Given the description of an element on the screen output the (x, y) to click on. 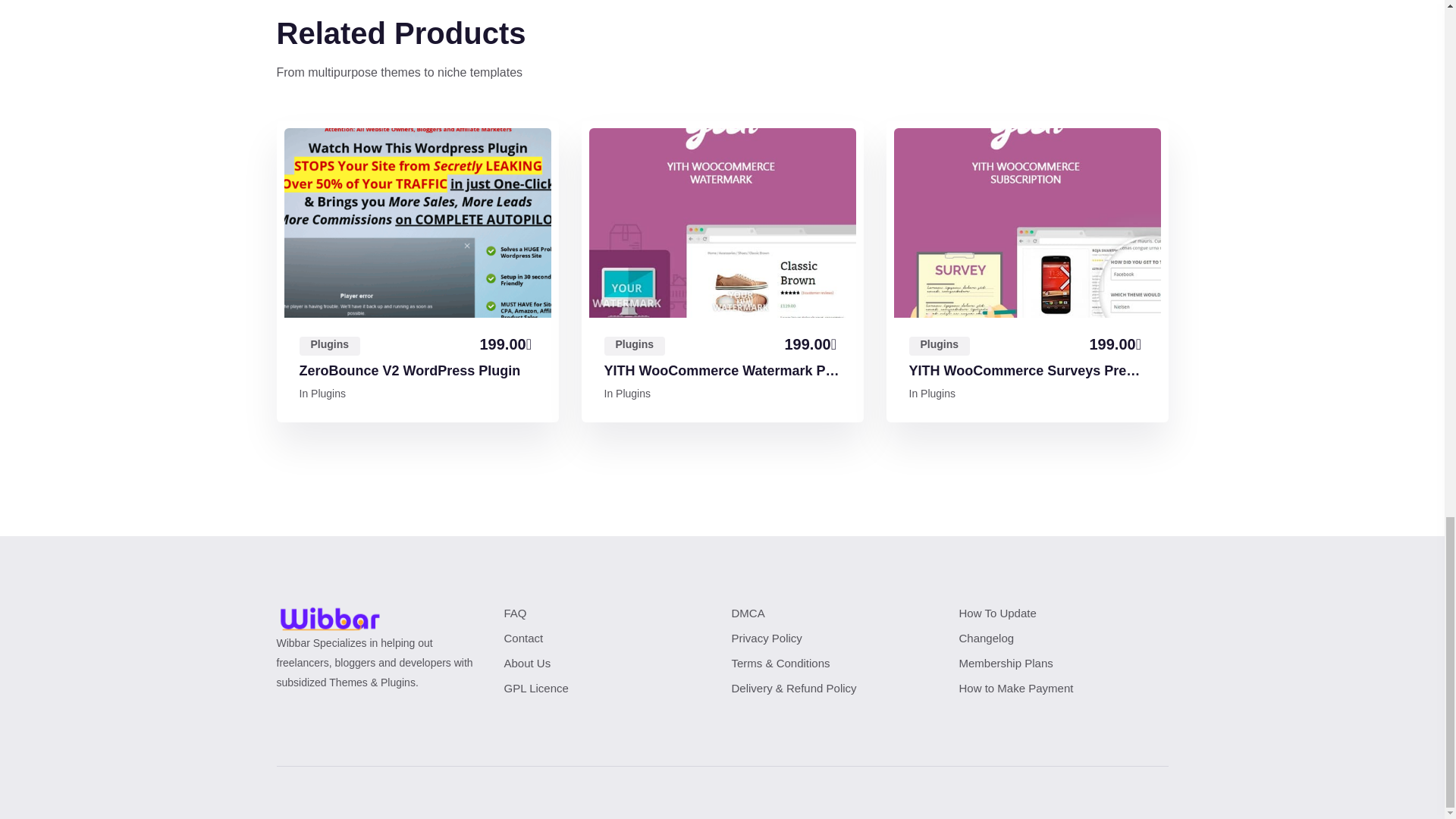
YITH WooCommerce Watermark Premium (722, 371)
YITH WooCommerce Surveys Premium (1026, 371)
Plugins (632, 393)
Plugins (328, 345)
Plugins (938, 345)
Plugins (328, 393)
ZeroBounce V2 WordPress Plugin (408, 371)
Plugins (634, 345)
